Given the description of an element on the screen output the (x, y) to click on. 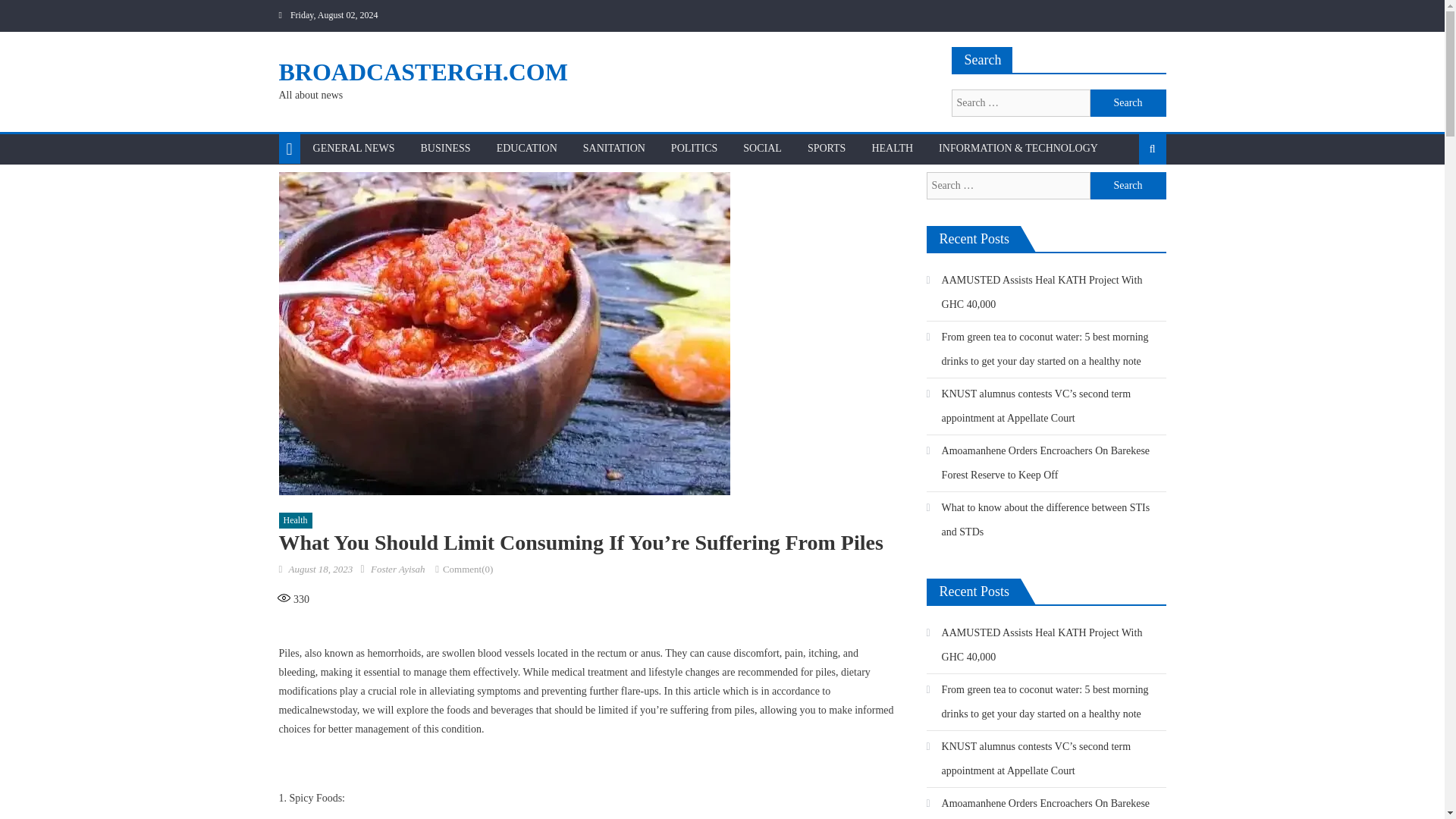
Search (1128, 197)
POLITICS (694, 148)
BUSINESS (445, 148)
Search (1128, 103)
Health (296, 520)
SPORTS (826, 148)
GENERAL NEWS (353, 148)
HEALTH (892, 148)
August 18, 2023 (320, 568)
EDUCATION (526, 148)
BROADCASTERGH.COM (423, 71)
Search (1128, 185)
Foster Ayisah (398, 568)
SANITATION (614, 148)
Search (1128, 103)
